Given the description of an element on the screen output the (x, y) to click on. 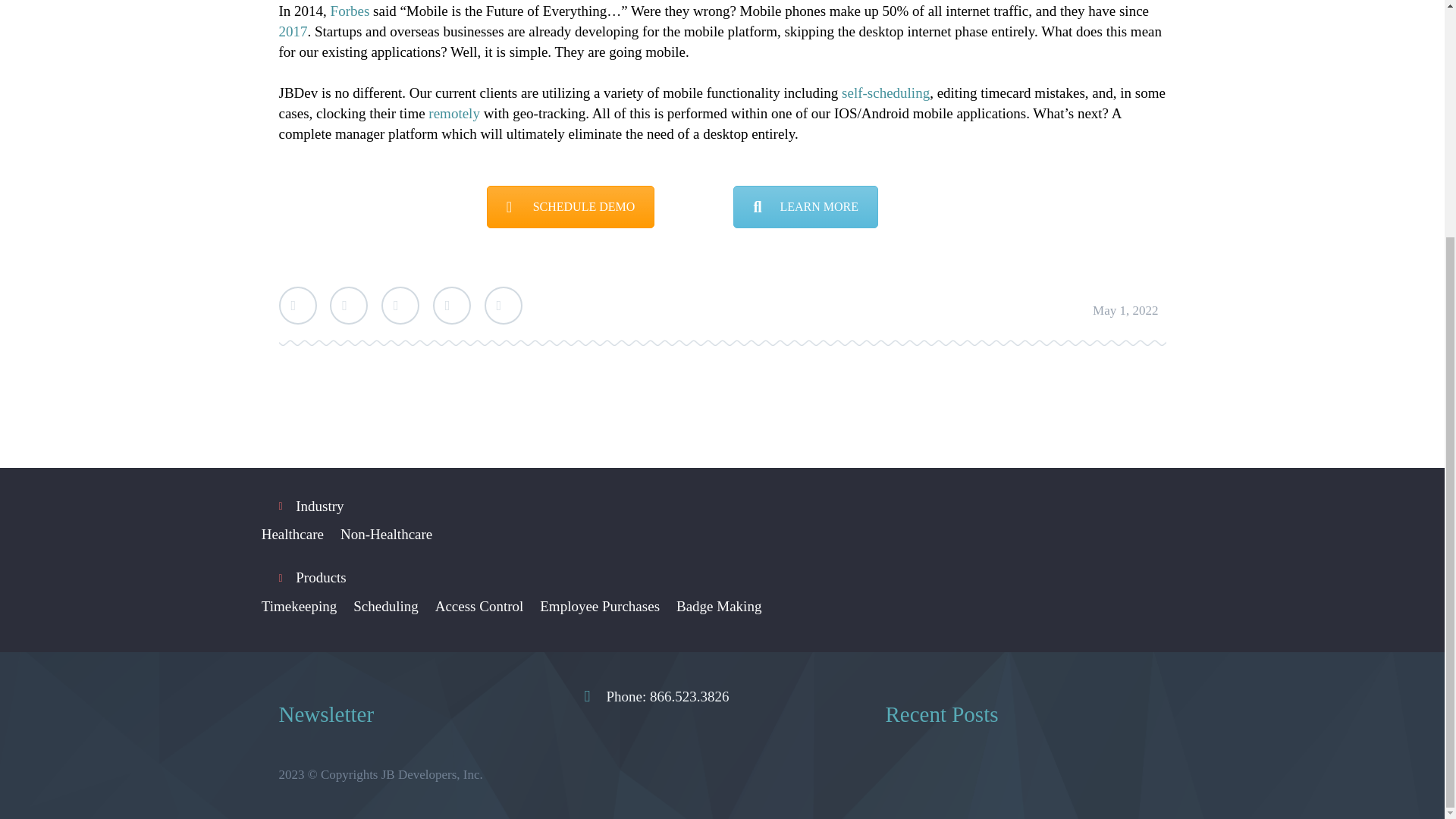
Timekeeping (299, 606)
2017 (293, 31)
Access Control (479, 606)
Google Plus (400, 305)
self-scheduling (885, 92)
Healthcare (292, 534)
Badge Making (719, 606)
Scheduling (386, 606)
SCHEDULE DEMO (570, 206)
StumbleUpon (502, 305)
LinkedIn (451, 305)
Facebook (349, 305)
LinkedIn (451, 305)
LEARN MORE (805, 206)
Forbes (349, 10)
